Given the description of an element on the screen output the (x, y) to click on. 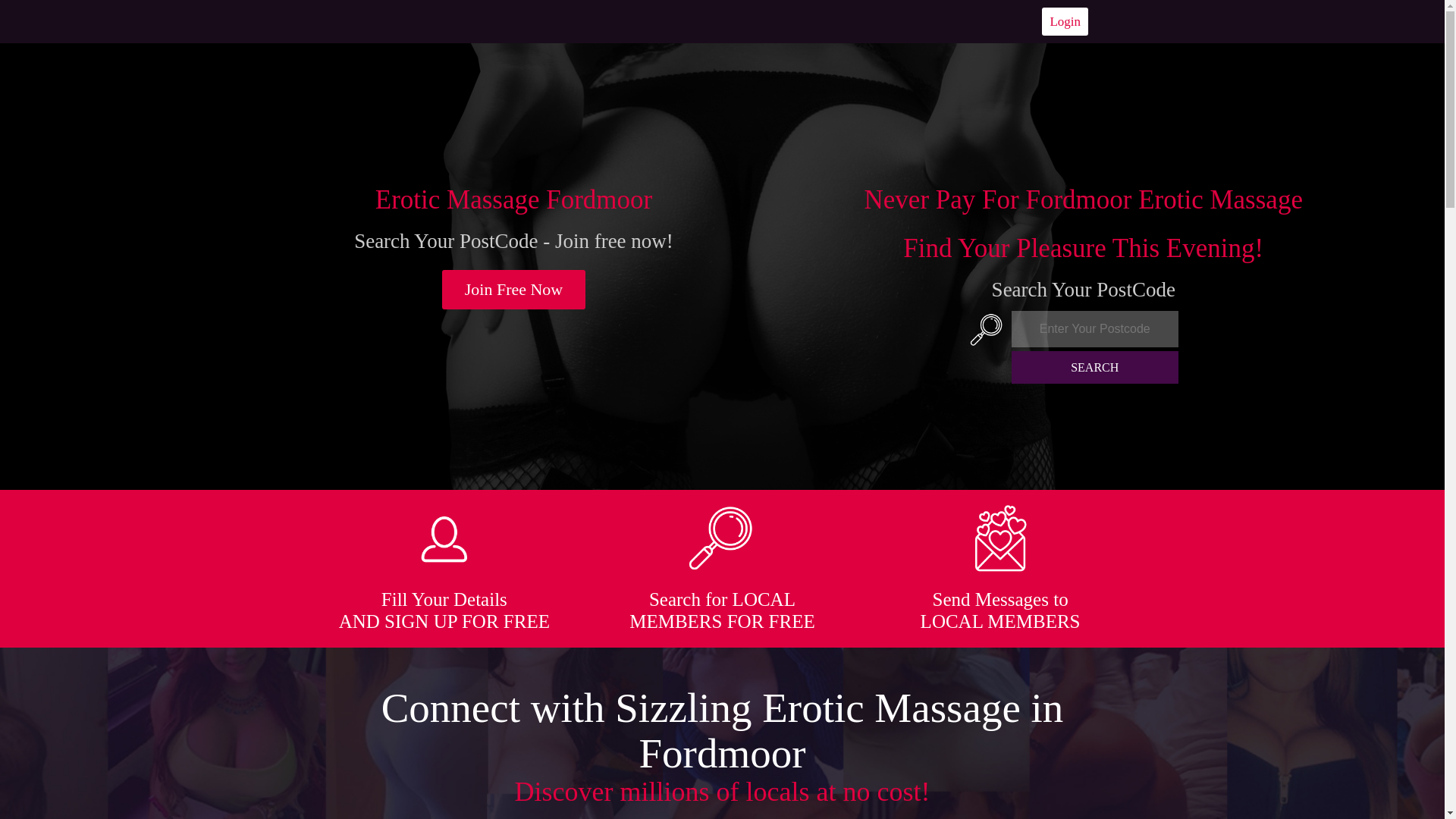
Login (1064, 21)
Login (1064, 21)
SEARCH (1094, 367)
Join (514, 289)
Join Free Now (514, 289)
